Given the description of an element on the screen output the (x, y) to click on. 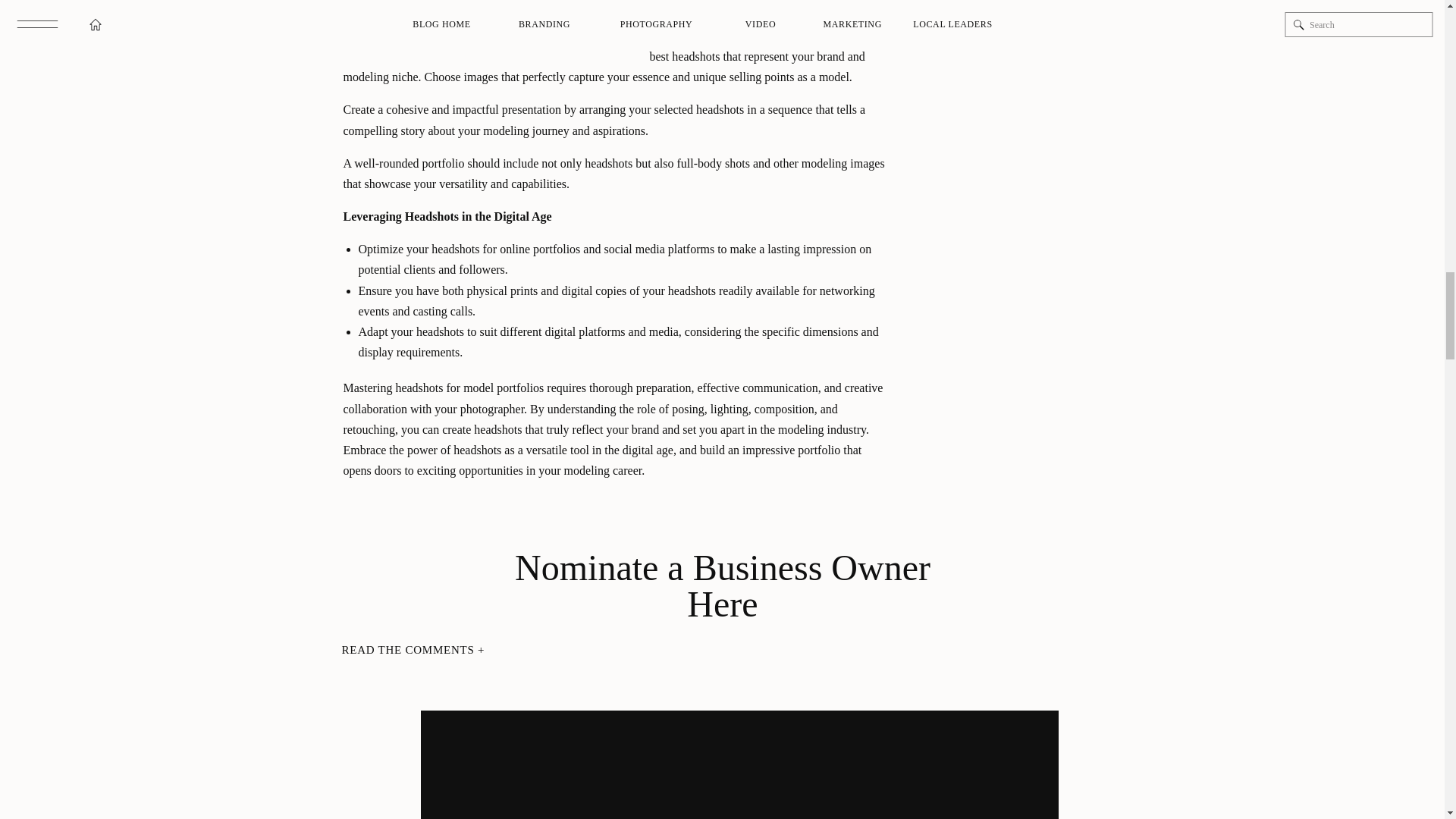
Nominate a Business Owner Here (722, 570)
